Given the description of an element on the screen output the (x, y) to click on. 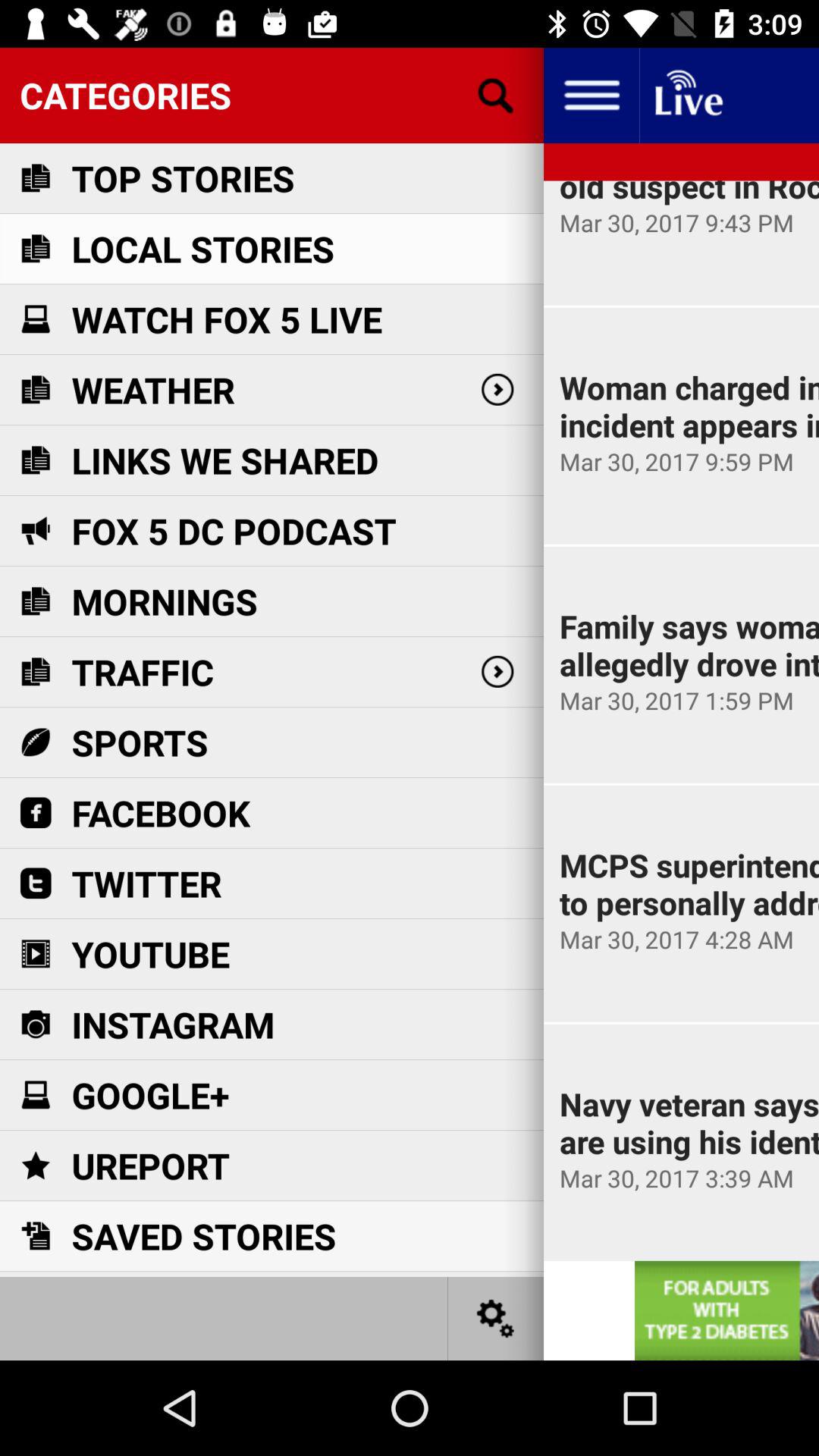
go to live (687, 95)
